Given the description of an element on the screen output the (x, y) to click on. 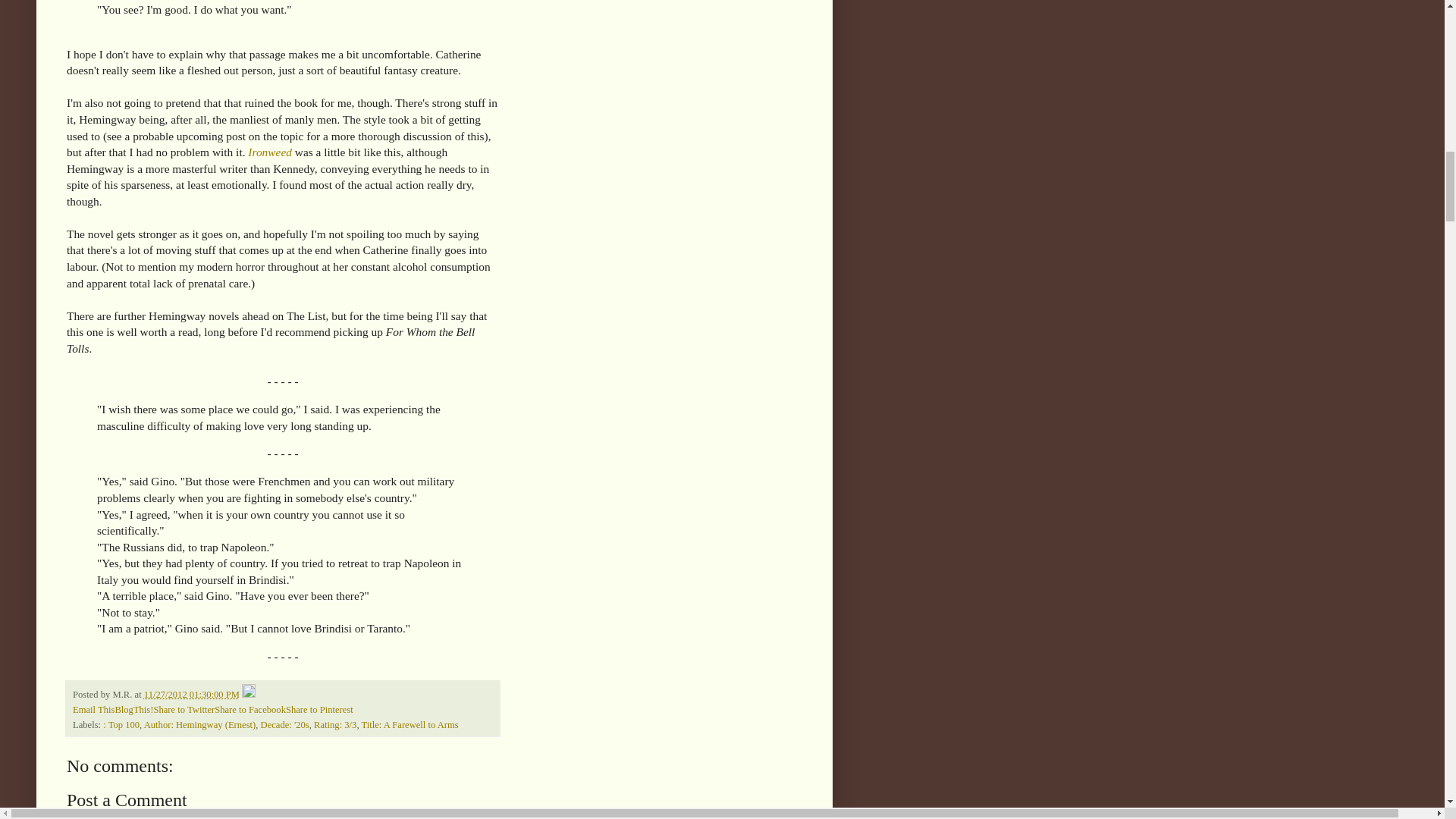
permanent link (192, 694)
Edit Post (248, 694)
Decade: '20s (284, 724)
Email This (93, 709)
Share to Pinterest (319, 709)
BlogThis! (133, 709)
Share to Pinterest (319, 709)
Share to Facebook (249, 709)
Share to Twitter (183, 709)
Share to Facebook (249, 709)
Ironweed (269, 151)
BlogThis! (133, 709)
Title: A Farewell to Arms (409, 724)
Share to Twitter (183, 709)
Email This (93, 709)
